Given the description of an element on the screen output the (x, y) to click on. 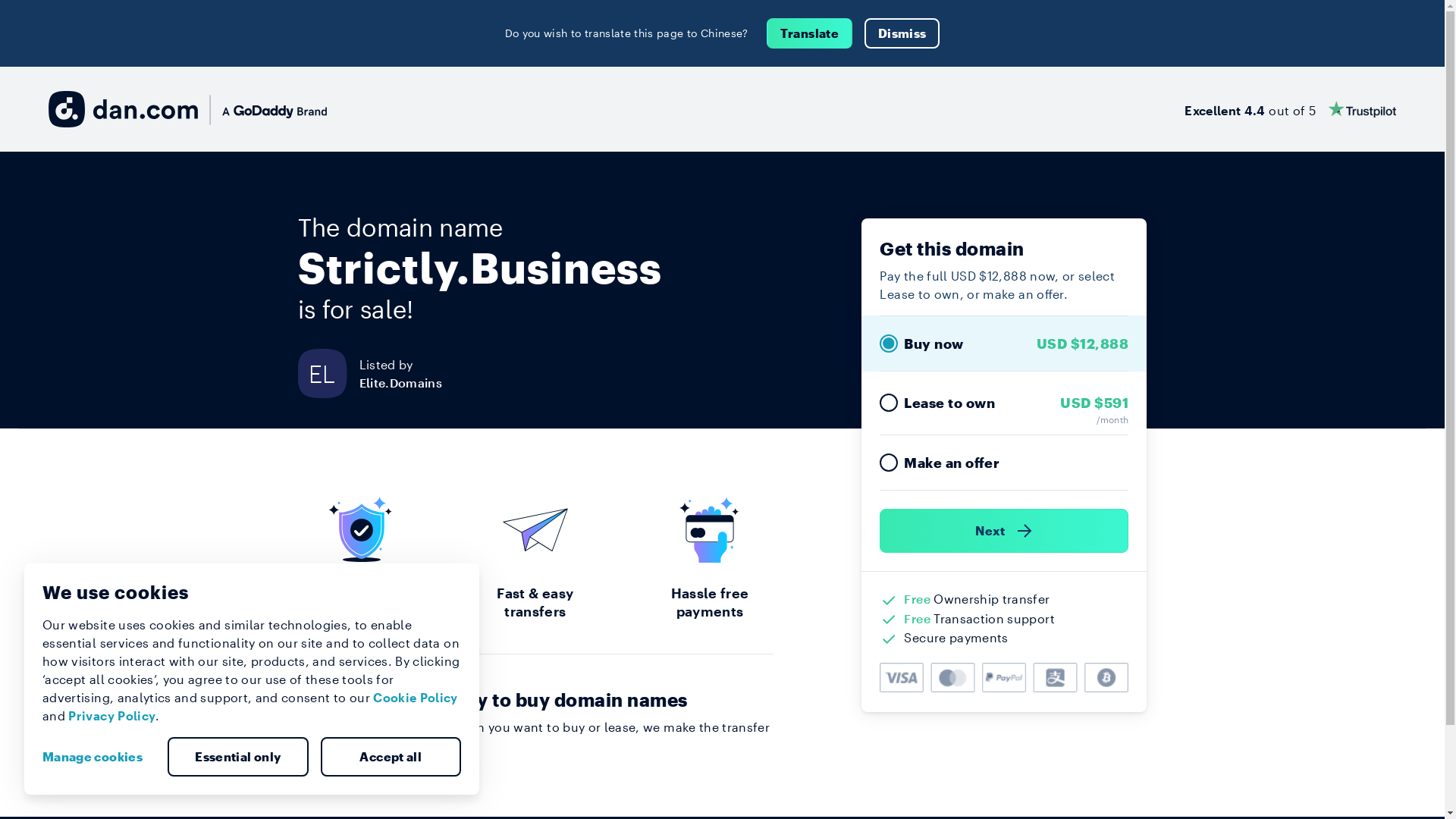
Cookie Policy Element type: text (415, 697)
EL Element type: text (327, 373)
Dismiss Element type: text (901, 33)
Privacy Policy Element type: text (111, 715)
Essential only Element type: text (237, 756)
Manage cookies Element type: text (98, 756)
Excellent 4.4 out of 5 Element type: text (1290, 109)
Accept all Element type: text (390, 756)
Translate Element type: text (809, 33)
Next
) Element type: text (1003, 530)
